Given the description of an element on the screen output the (x, y) to click on. 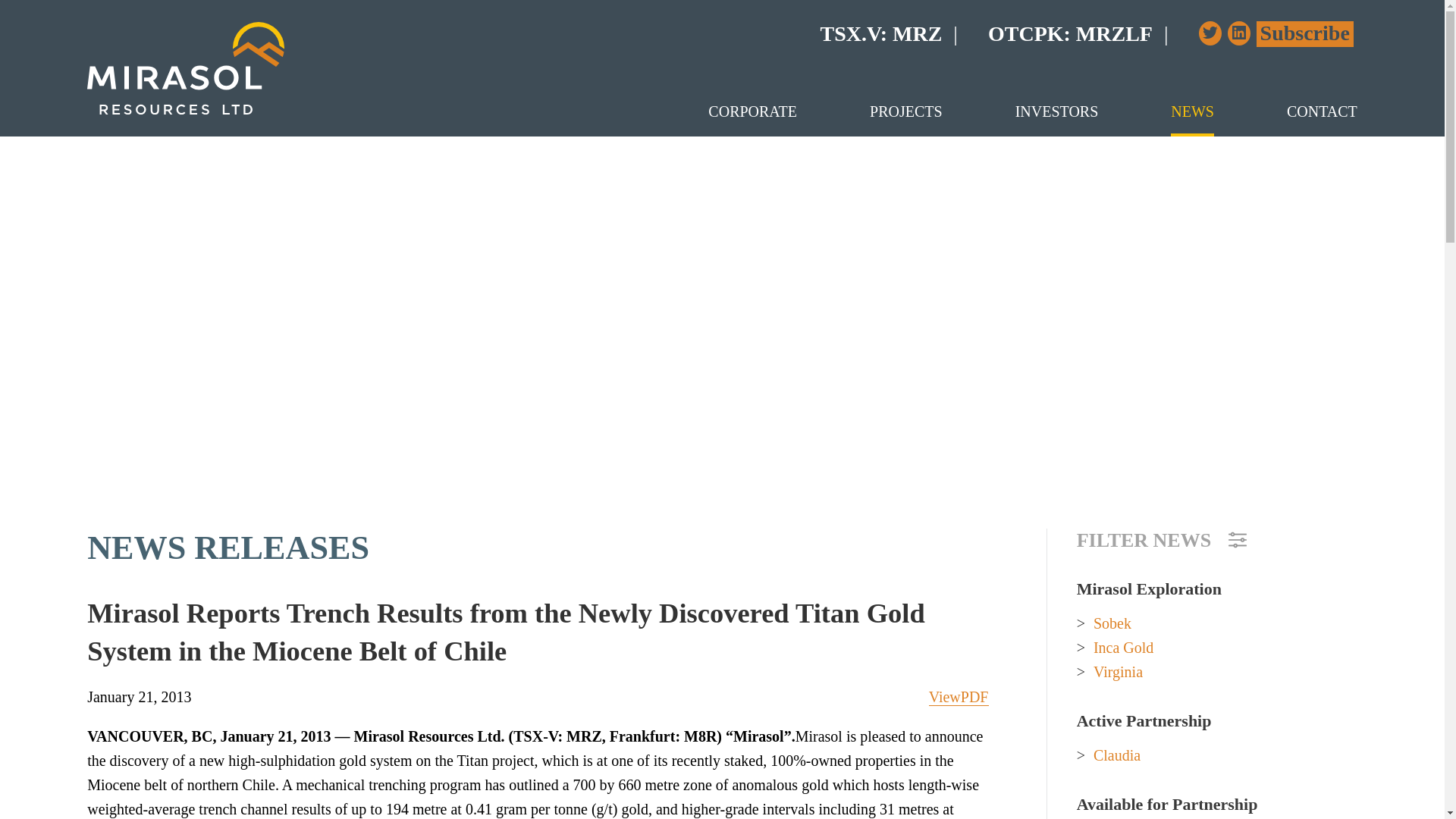
CORPORATE (751, 110)
NEWS (1192, 110)
INVESTORS (1056, 110)
CONTACT (1321, 110)
PROJECTS (905, 110)
